Given the description of an element on the screen output the (x, y) to click on. 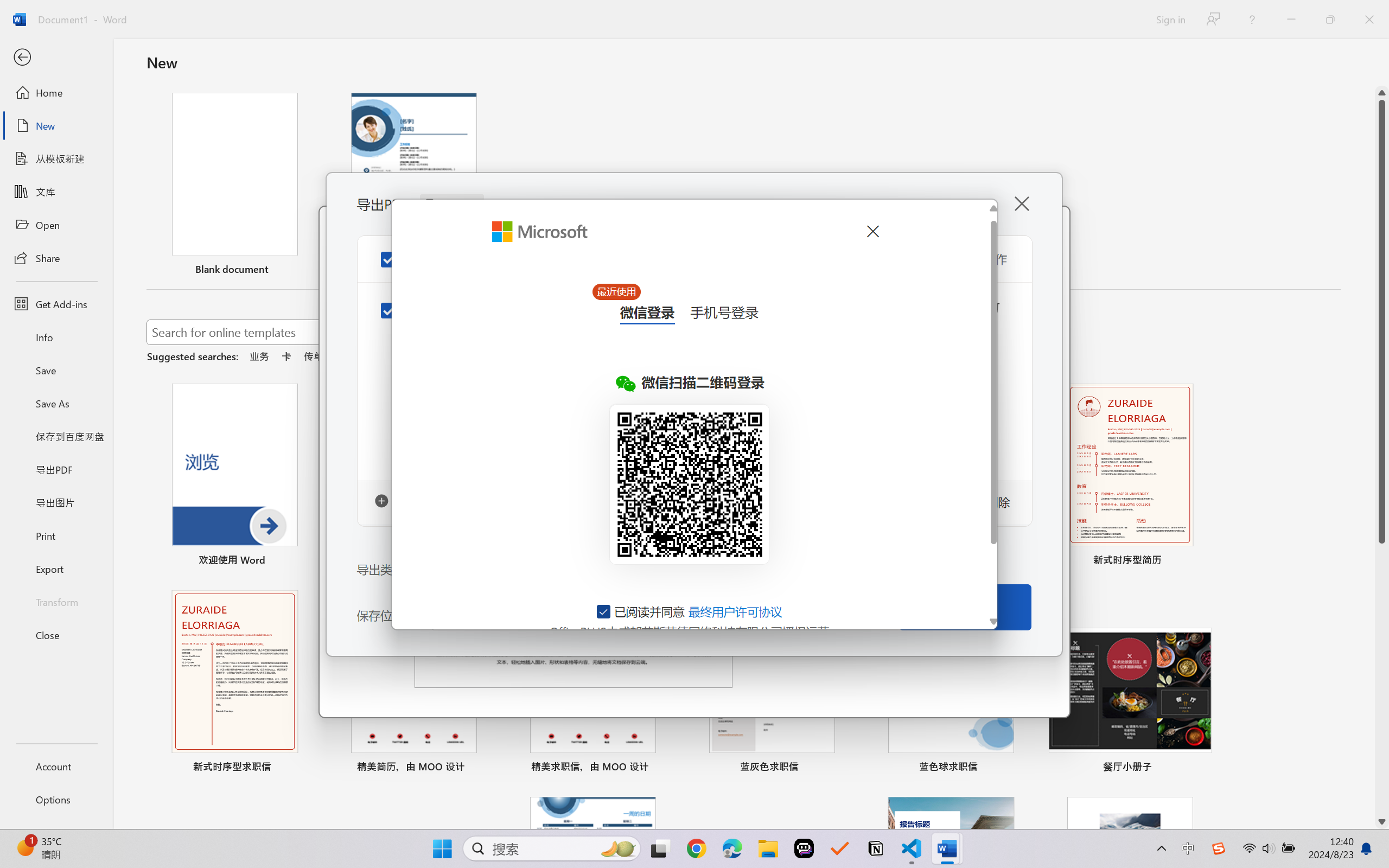
Account (56, 765)
Previous Template (342, 479)
Cancel (872, 230)
Blank document (234, 185)
Save As (56, 403)
Options (56, 798)
